Given the description of an element on the screen output the (x, y) to click on. 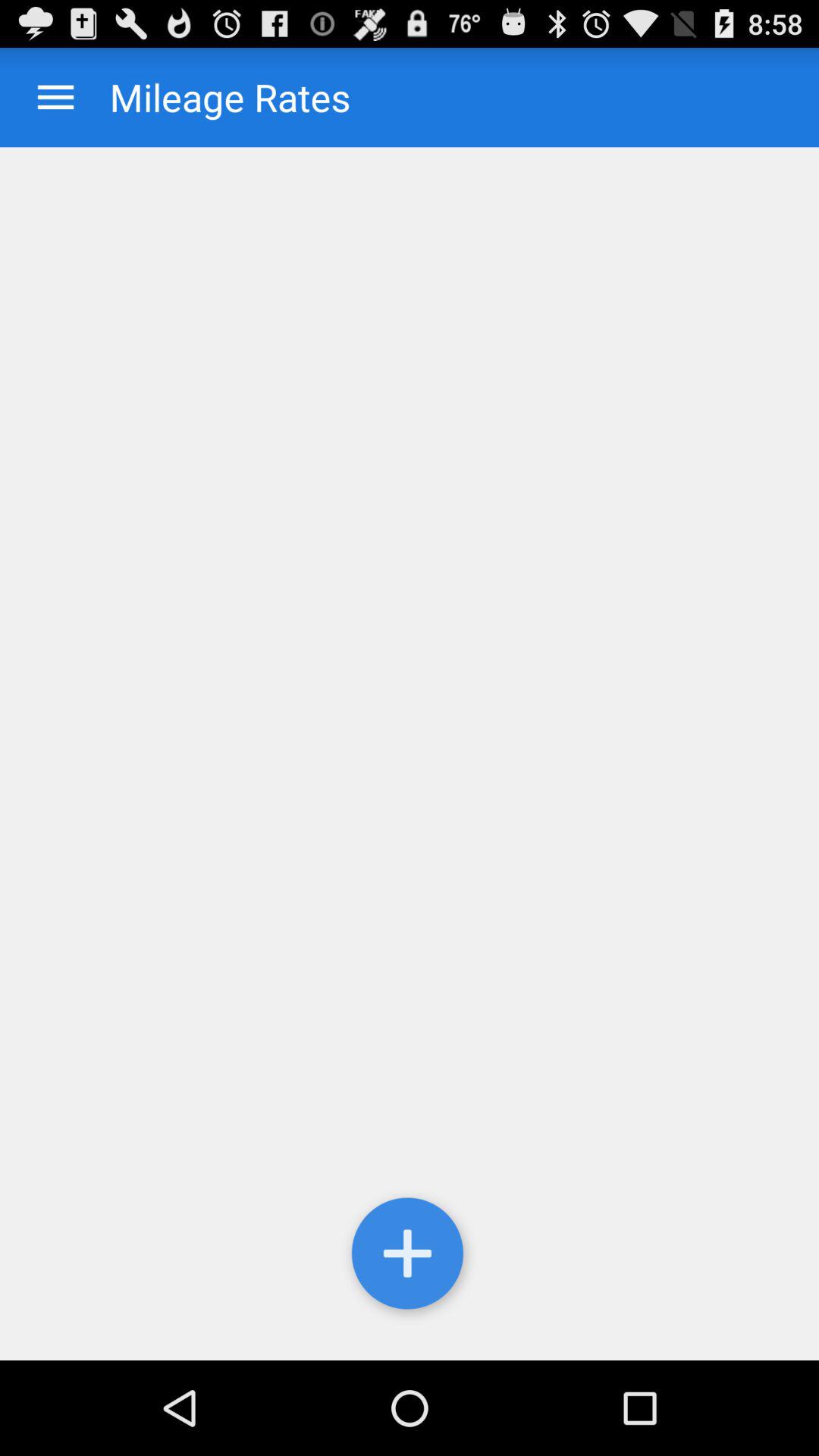
add an item (409, 753)
